Given the description of an element on the screen output the (x, y) to click on. 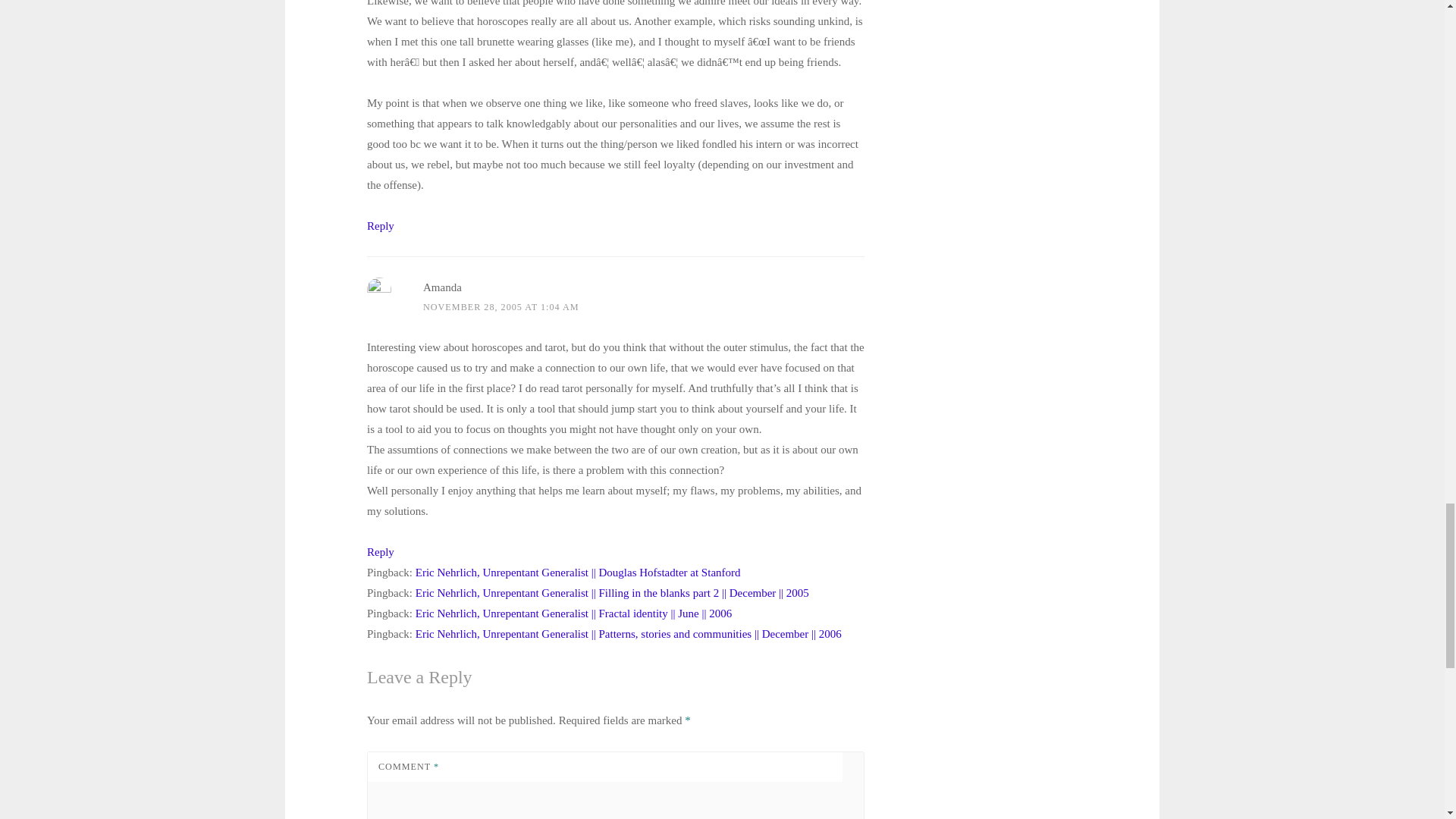
Reply (380, 225)
Reply (380, 551)
NOVEMBER 28, 2005 AT 1:04 AM (501, 307)
